Given the description of an element on the screen output the (x, y) to click on. 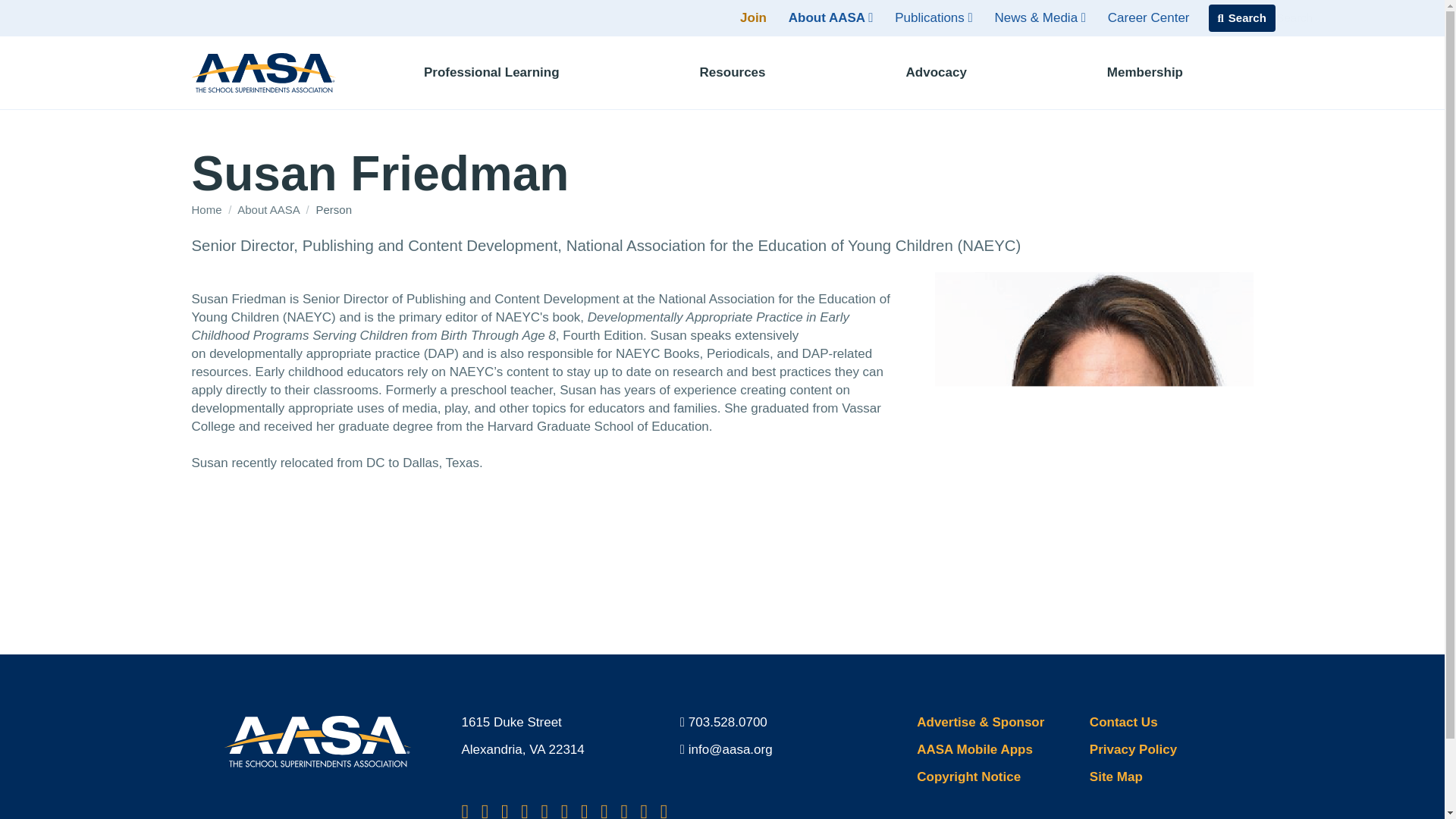
About AASA (830, 18)
Publications (933, 18)
Professional Learning (490, 72)
Career Center (1148, 18)
Join (753, 18)
